Given the description of an element on the screen output the (x, y) to click on. 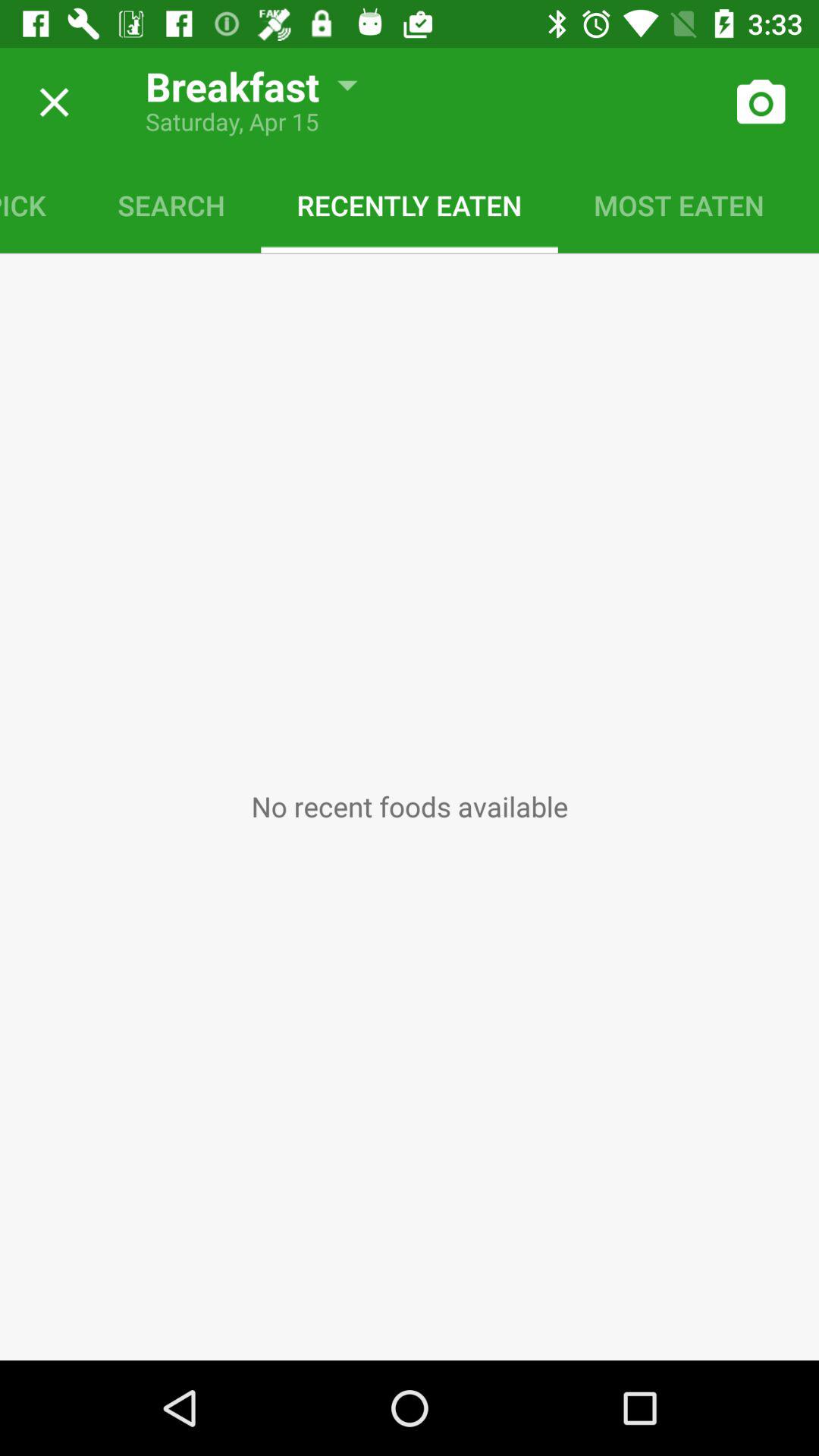
click the item to the left of the search item (40, 205)
